Given the description of an element on the screen output the (x, y) to click on. 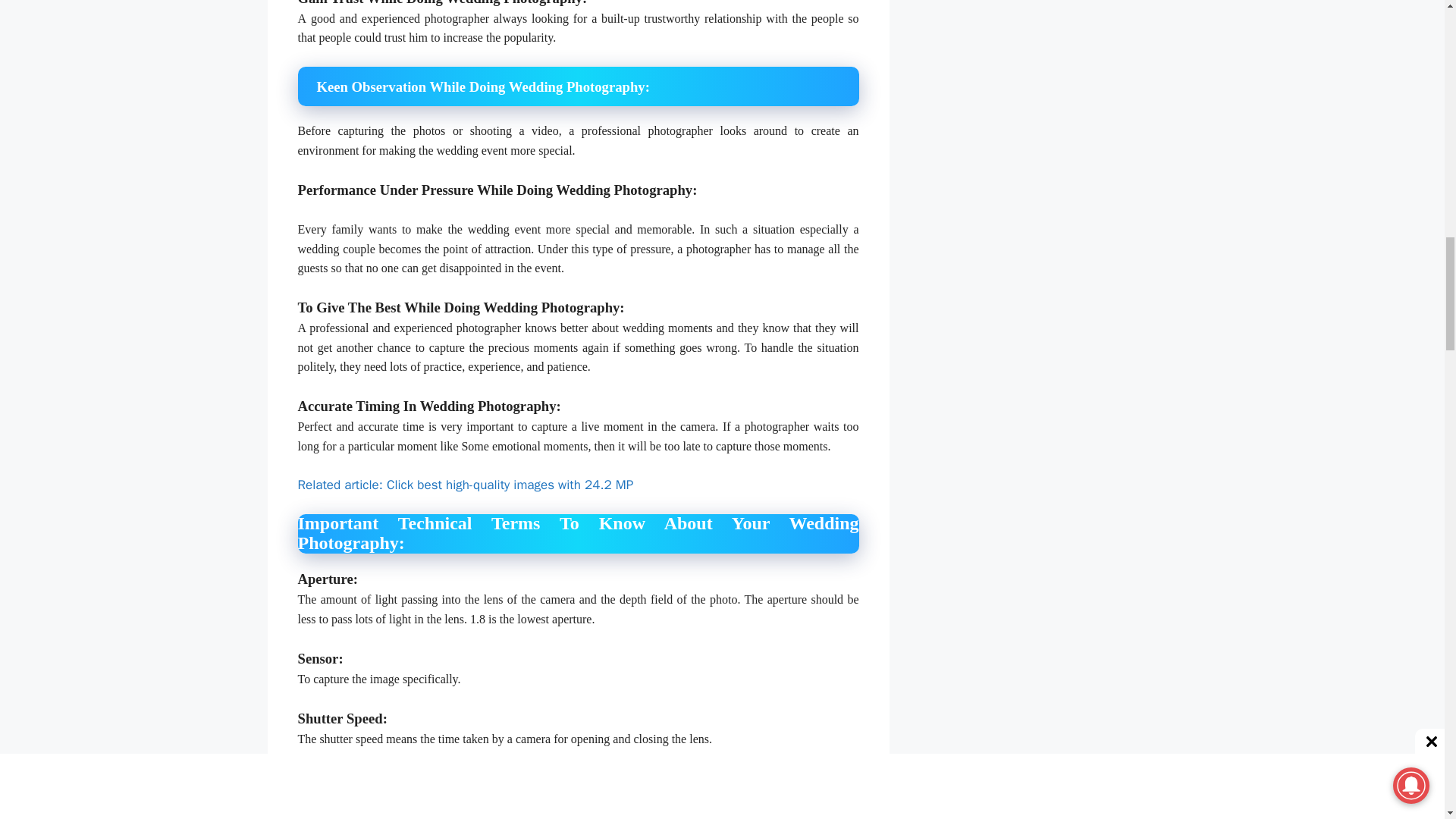
Related article: Click best high-quality images with 24.2 MP (465, 484)
